Given the description of an element on the screen output the (x, y) to click on. 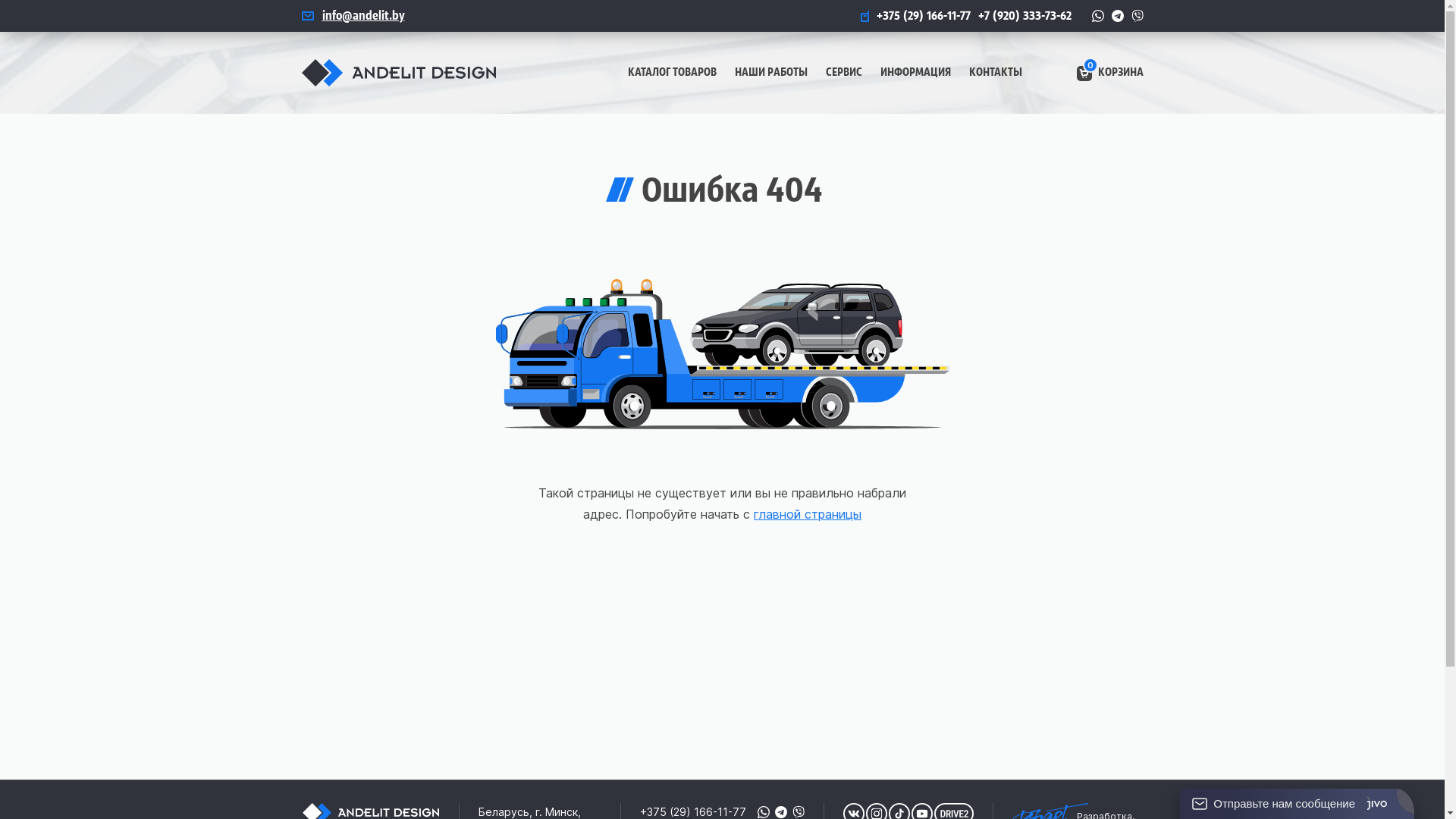
info@andelit.by Element type: text (352, 15)
+7 (920) 333-73-62 Element type: text (1024, 15)
+375 (29) 166-11-77 Element type: text (914, 15)
